Given the description of an element on the screen output the (x, y) to click on. 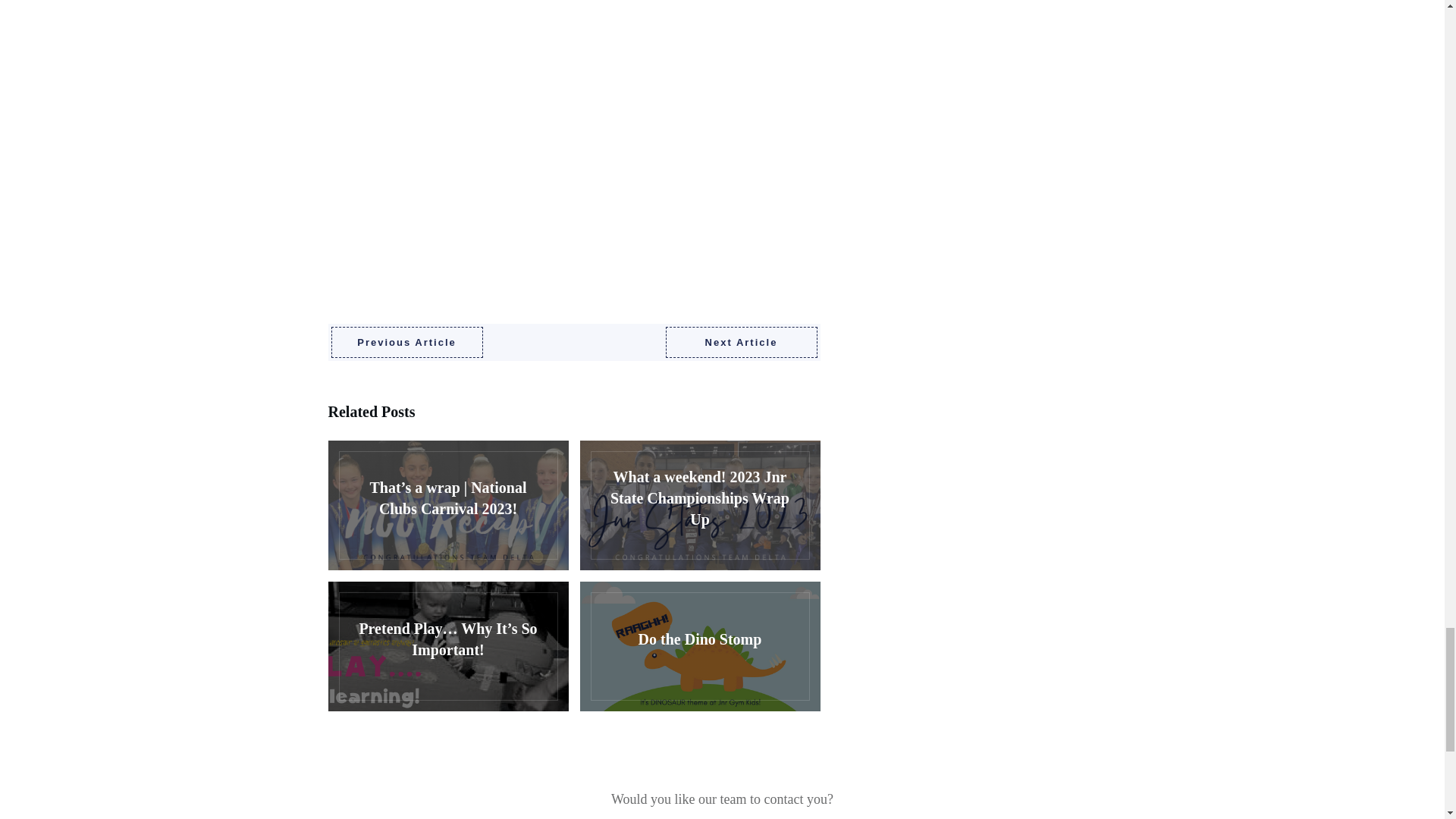
What a weekend! 2023 Jnr State Championships Wrap Up (699, 505)
Do the Dino Stomp (699, 646)
Previous Article (405, 342)
Next Article (740, 342)
